Given the description of an element on the screen output the (x, y) to click on. 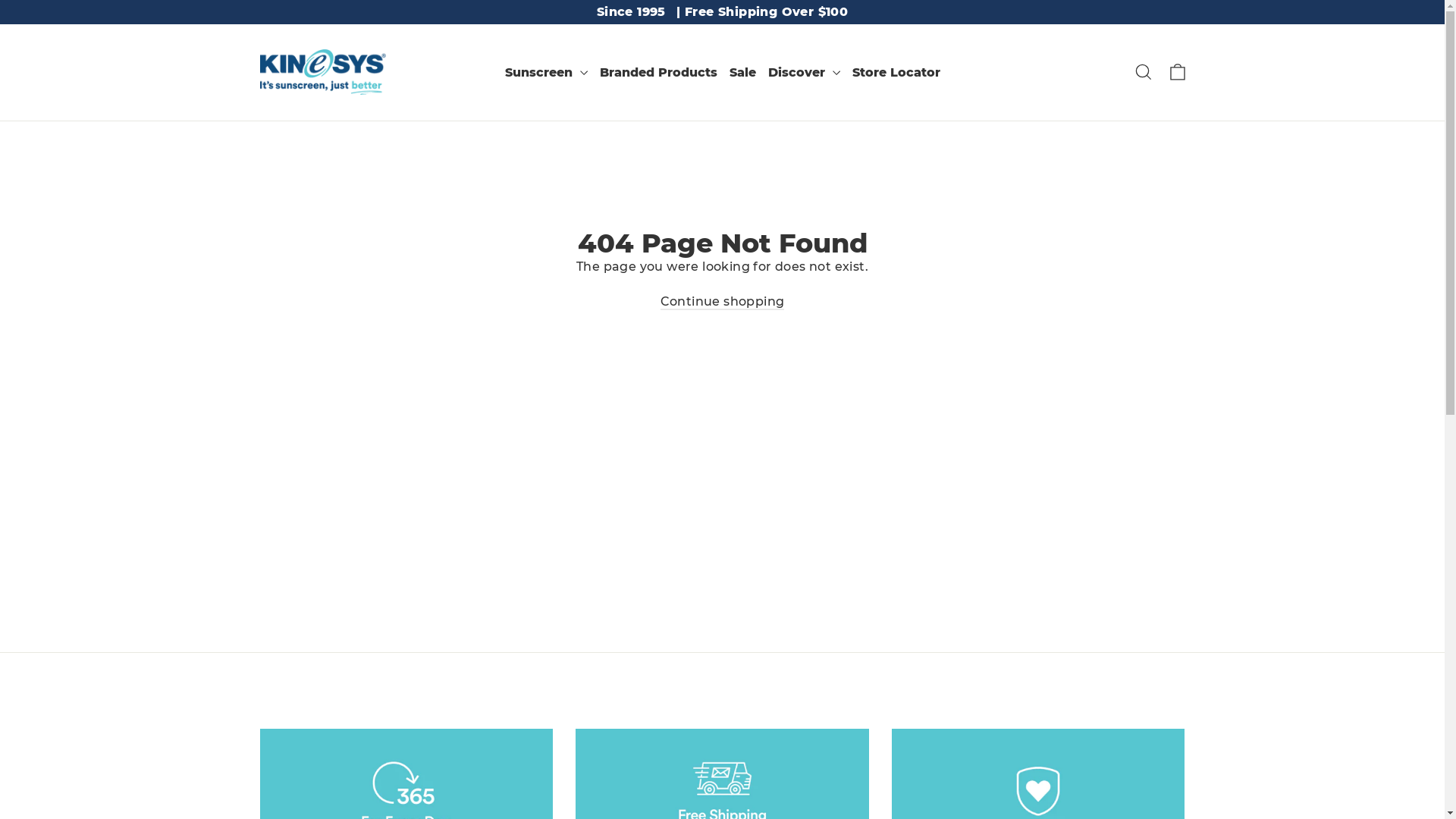
Branded Products Element type: text (657, 72)
Discover Element type: text (803, 72)
Sale Element type: text (742, 72)
Sunscreen Element type: text (545, 72)
Cart Element type: text (1176, 71)
Store Locator Element type: text (896, 72)
Continue shopping Element type: text (722, 302)
Search Element type: text (1143, 71)
Skip to content Element type: text (0, 0)
